Given the description of an element on the screen output the (x, y) to click on. 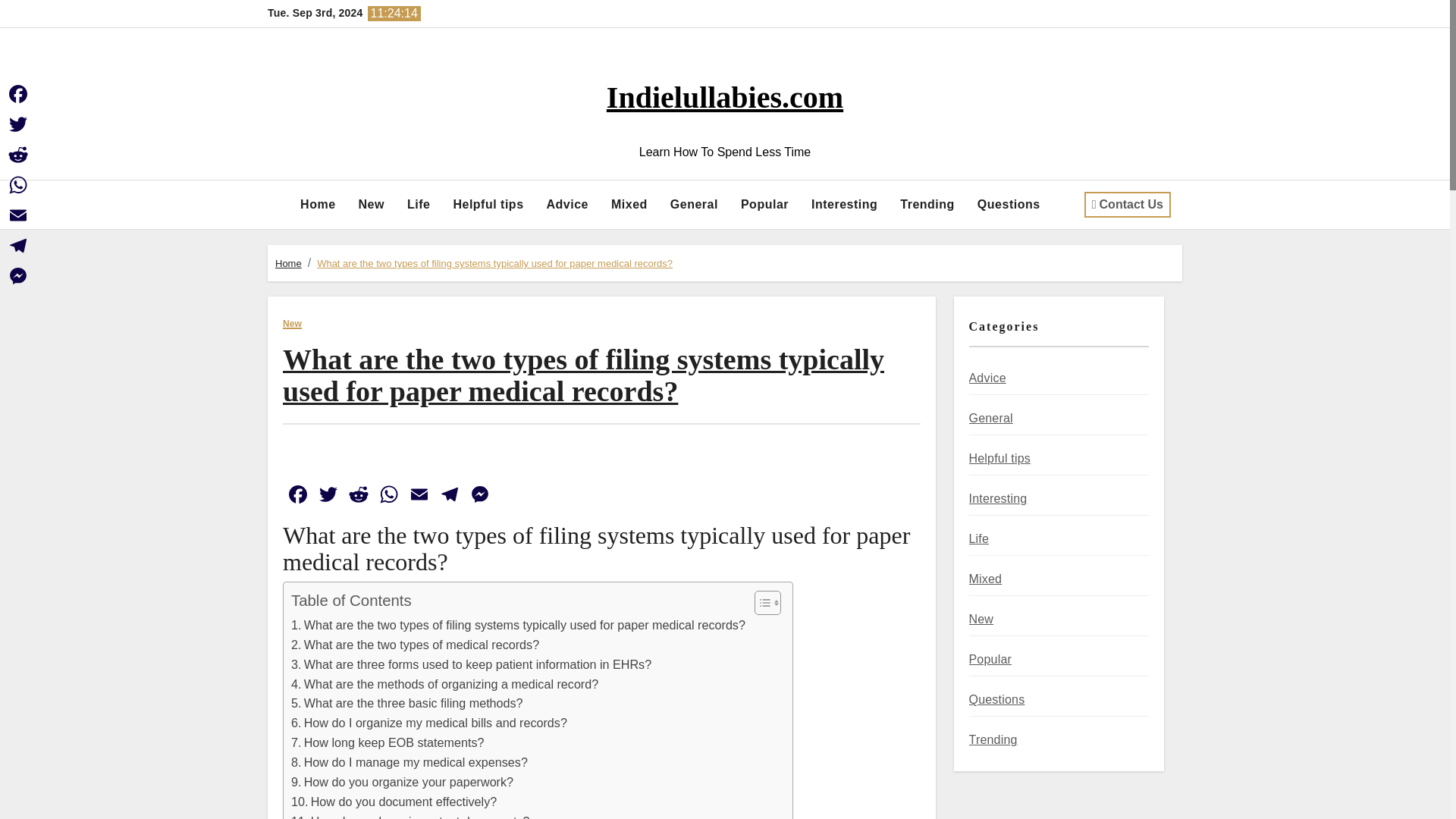
Home (317, 204)
Mixed (629, 204)
Email (418, 496)
Life (418, 204)
Questions (1008, 204)
Interesting (843, 204)
Popular (764, 204)
General (694, 204)
Helpful tips (487, 204)
